Given the description of an element on the screen output the (x, y) to click on. 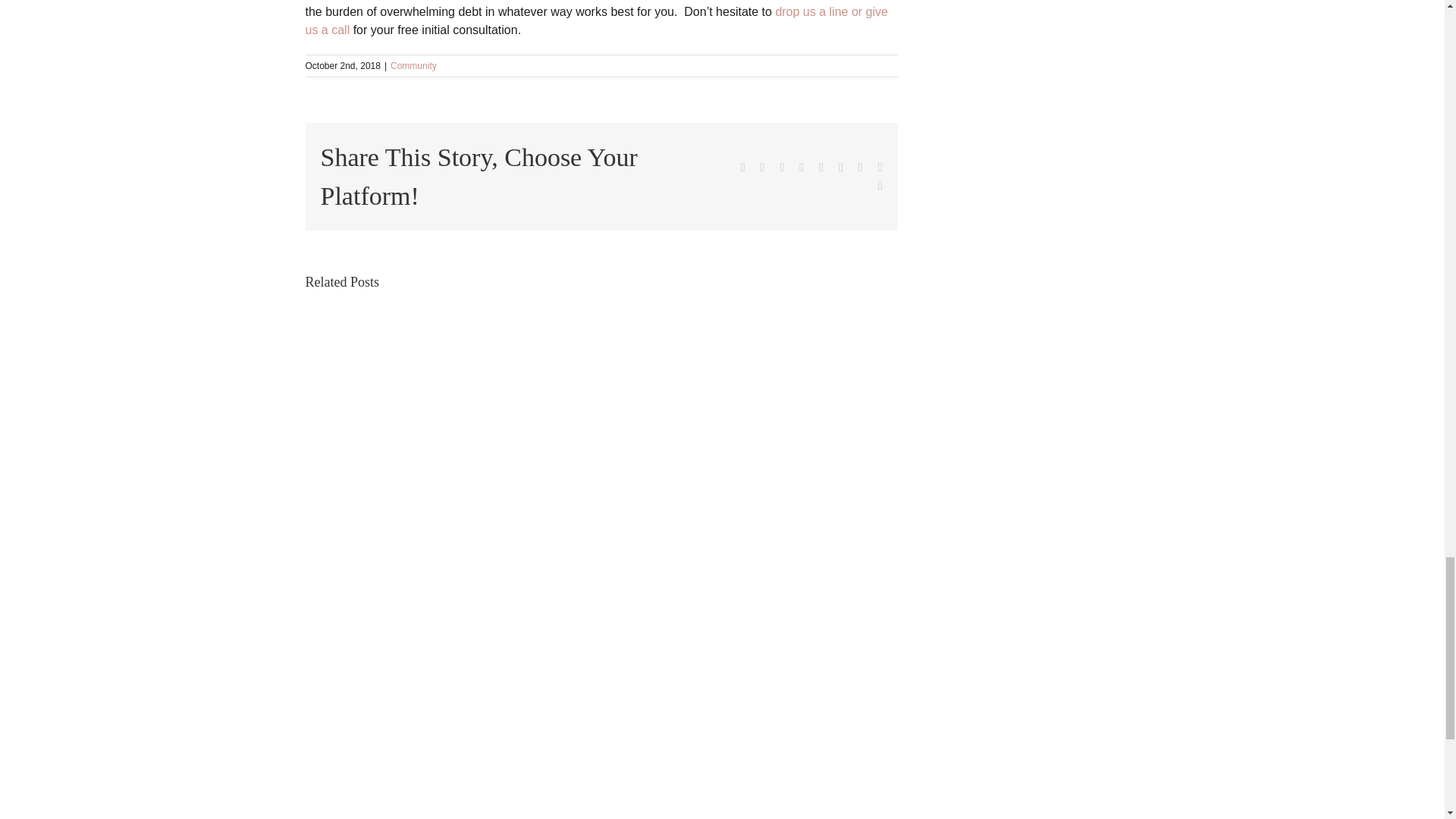
Community (413, 65)
drop us a line or give us a call (595, 20)
